Given the description of an element on the screen output the (x, y) to click on. 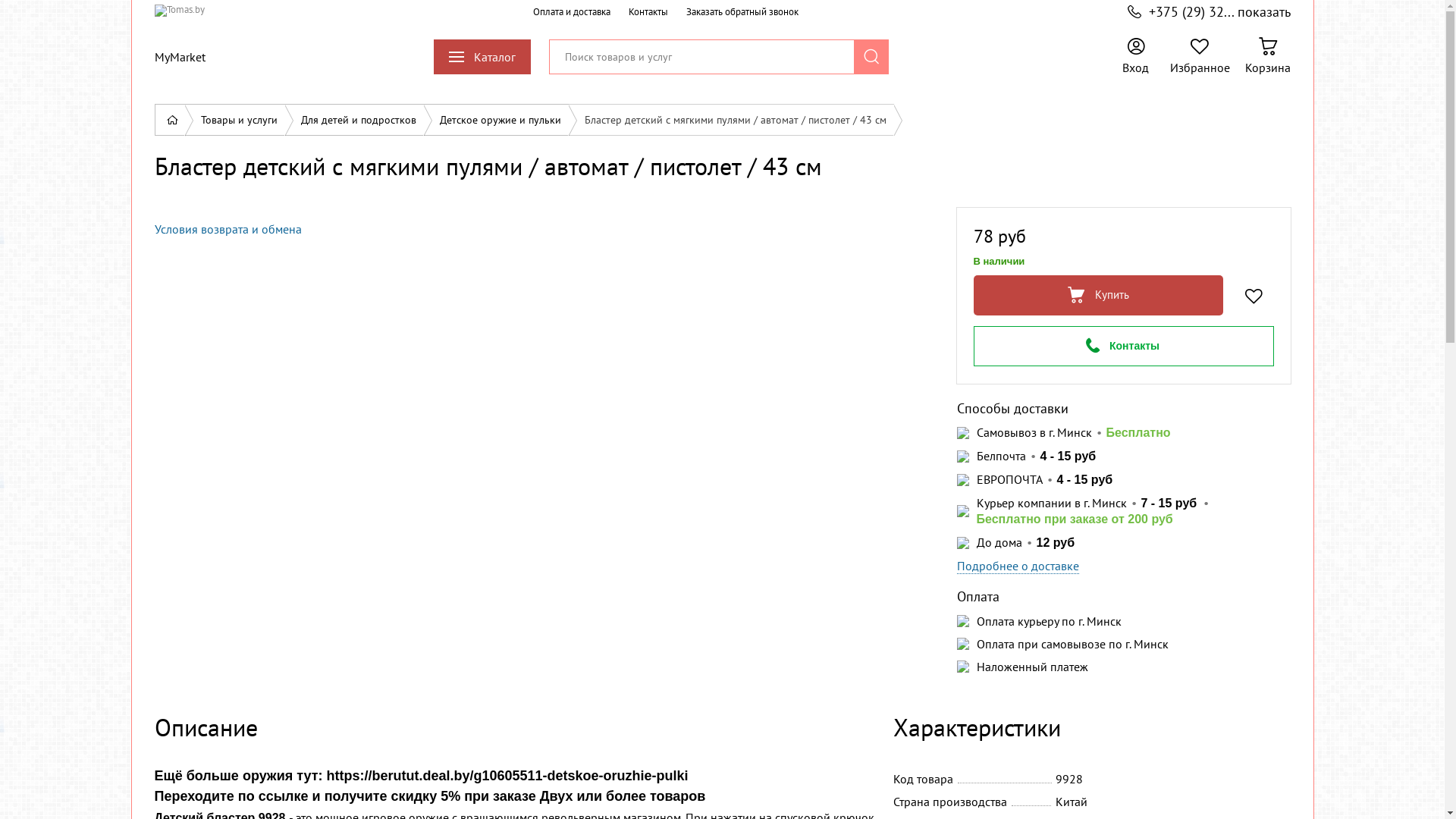
MyMarket Element type: text (179, 55)
